Given the description of an element on the screen output the (x, y) to click on. 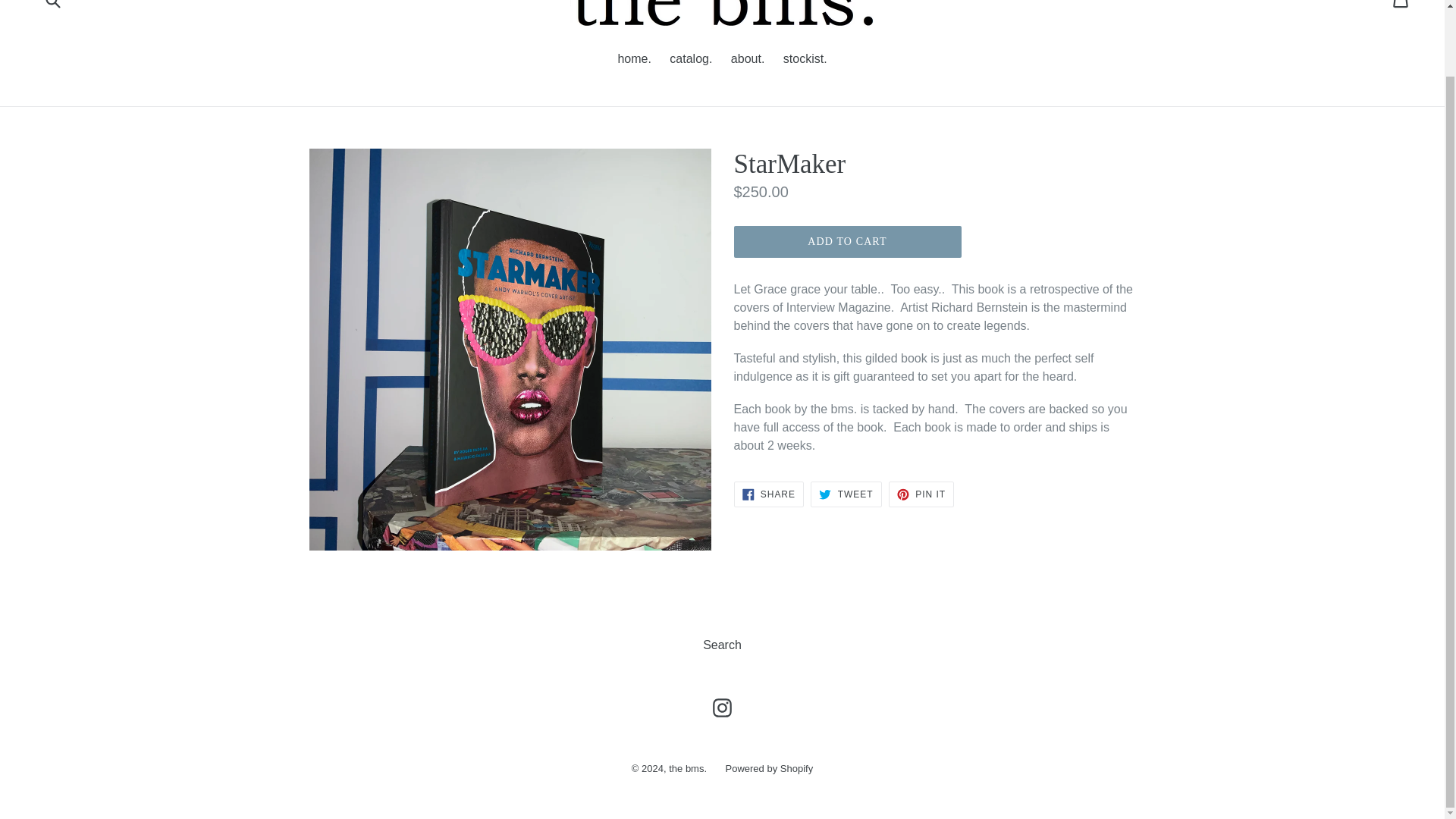
Submit (845, 493)
Instagram (52, 7)
the bms. (721, 707)
catalog. (687, 767)
about. (920, 493)
the bms. on Instagram (690, 59)
stockist. (747, 59)
Pin on Pinterest (721, 707)
